Given the description of an element on the screen output the (x, y) to click on. 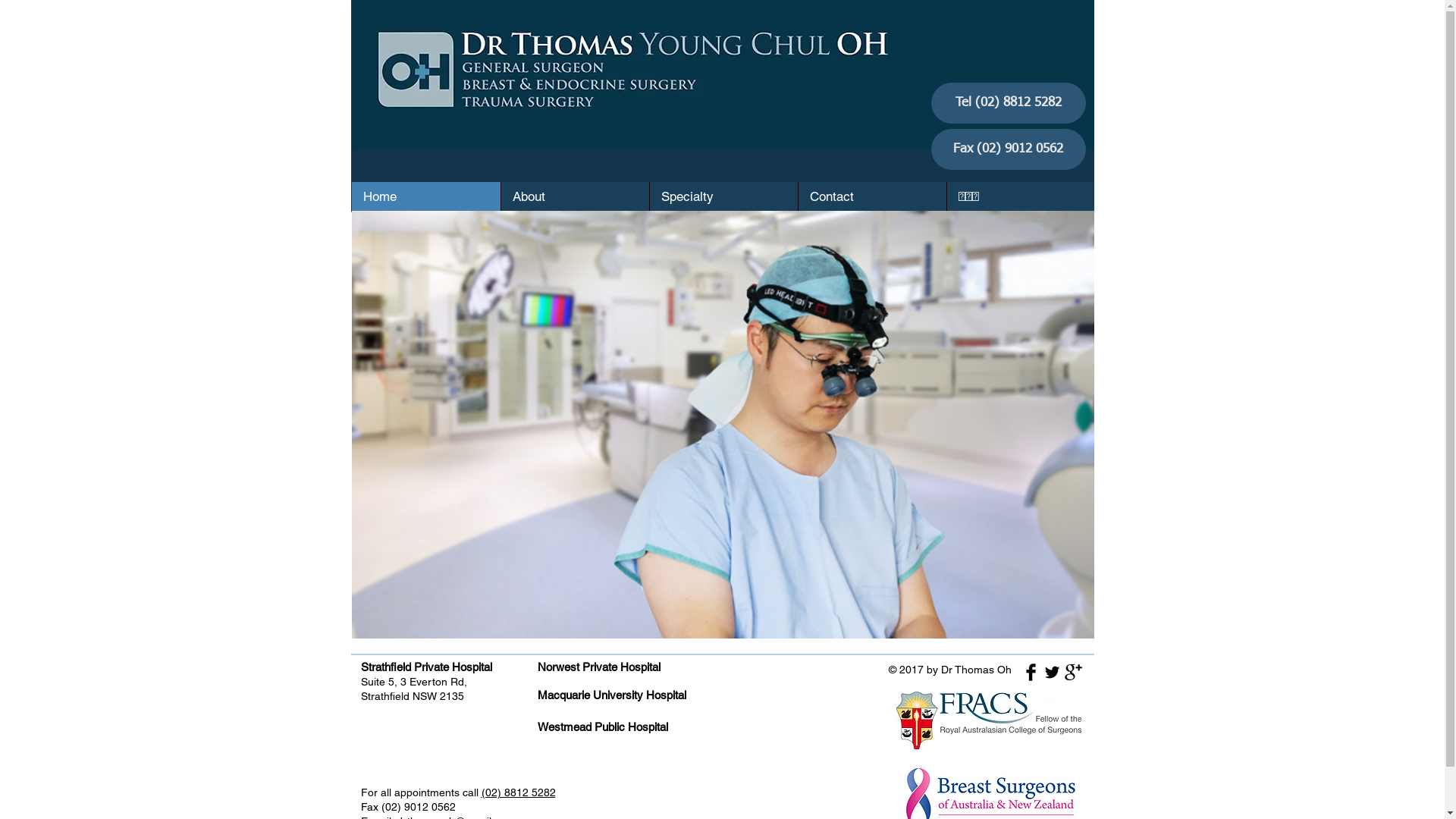
Fax (02) 9012 0562 Element type: text (1008, 148)
Tel (02) 8812 5282 Element type: text (1008, 102)
(02) 8812 5282 Element type: text (517, 792)
Specialty Element type: text (723, 196)
About Element type: text (574, 196)
Contact Element type: text (871, 196)
Home Element type: text (425, 196)
